Given the description of an element on the screen output the (x, y) to click on. 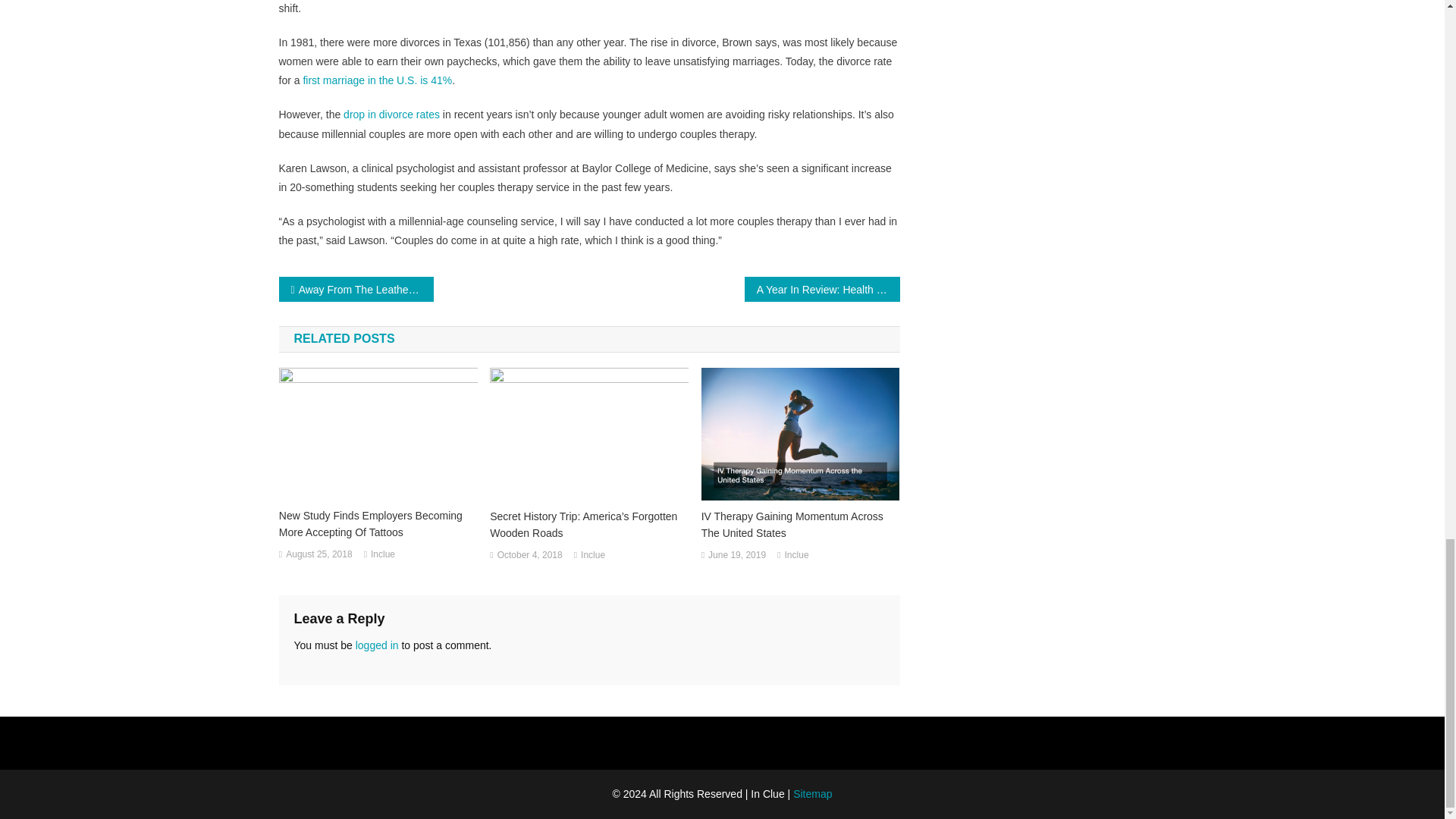
August 25, 2018 (318, 555)
IV Therapy Gaining Momentum Across The United States (800, 524)
Inclue (592, 555)
New Study Finds Employers Becoming More Accepting Of Tattoos (378, 523)
Inclue (382, 555)
drop in divorce rates (391, 114)
A Year In Review: Health News That Will Shape 2019 (821, 289)
June 19, 2019 (736, 555)
Inclue (796, 555)
